Given the description of an element on the screen output the (x, y) to click on. 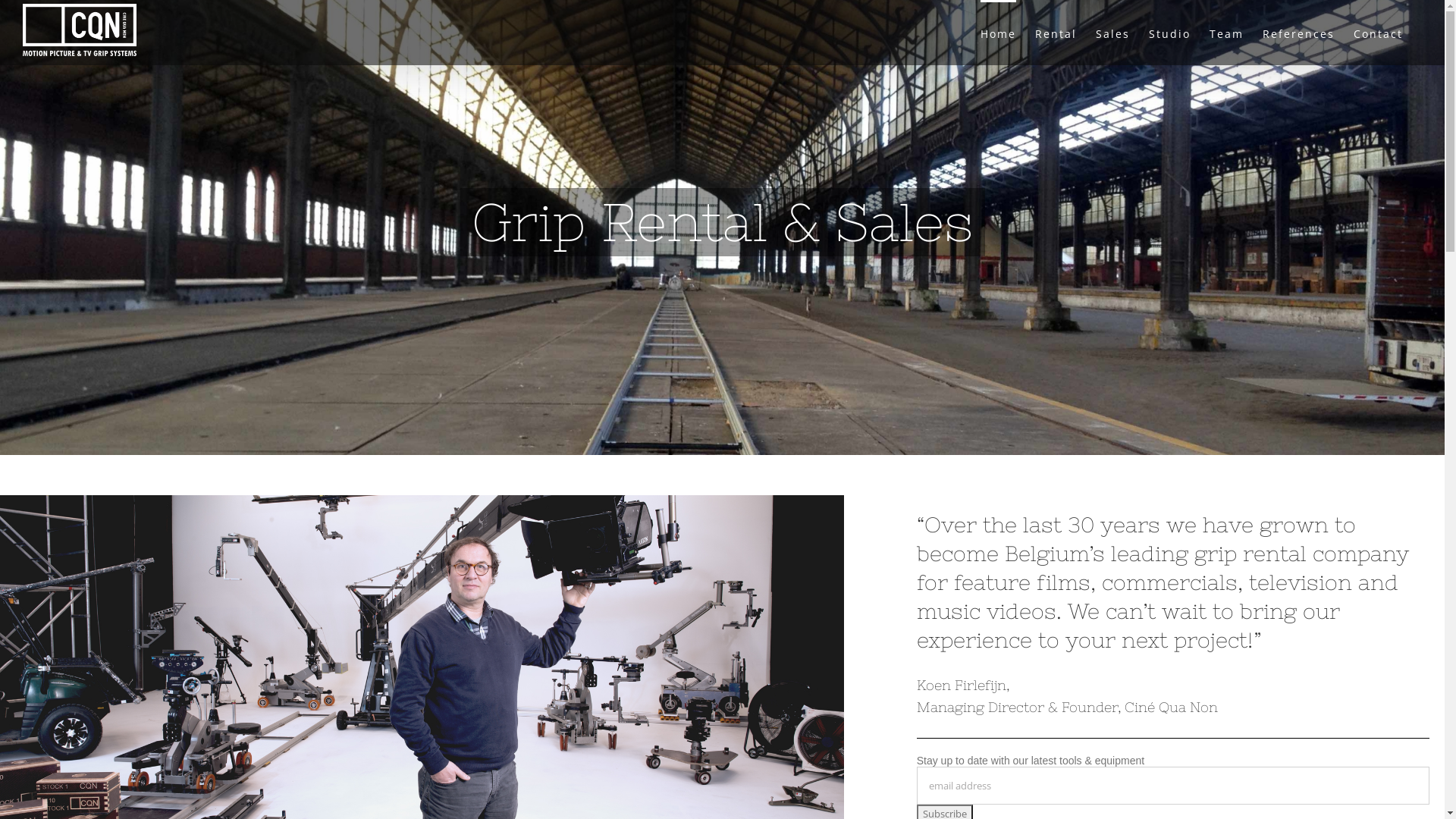
Sales Element type: text (1112, 32)
Team Element type: text (1226, 32)
References Element type: text (1298, 32)
Home Element type: text (998, 32)
Rental Element type: text (1055, 32)
Studio Element type: text (1169, 32)
Contact Element type: text (1377, 32)
